Given the description of an element on the screen output the (x, y) to click on. 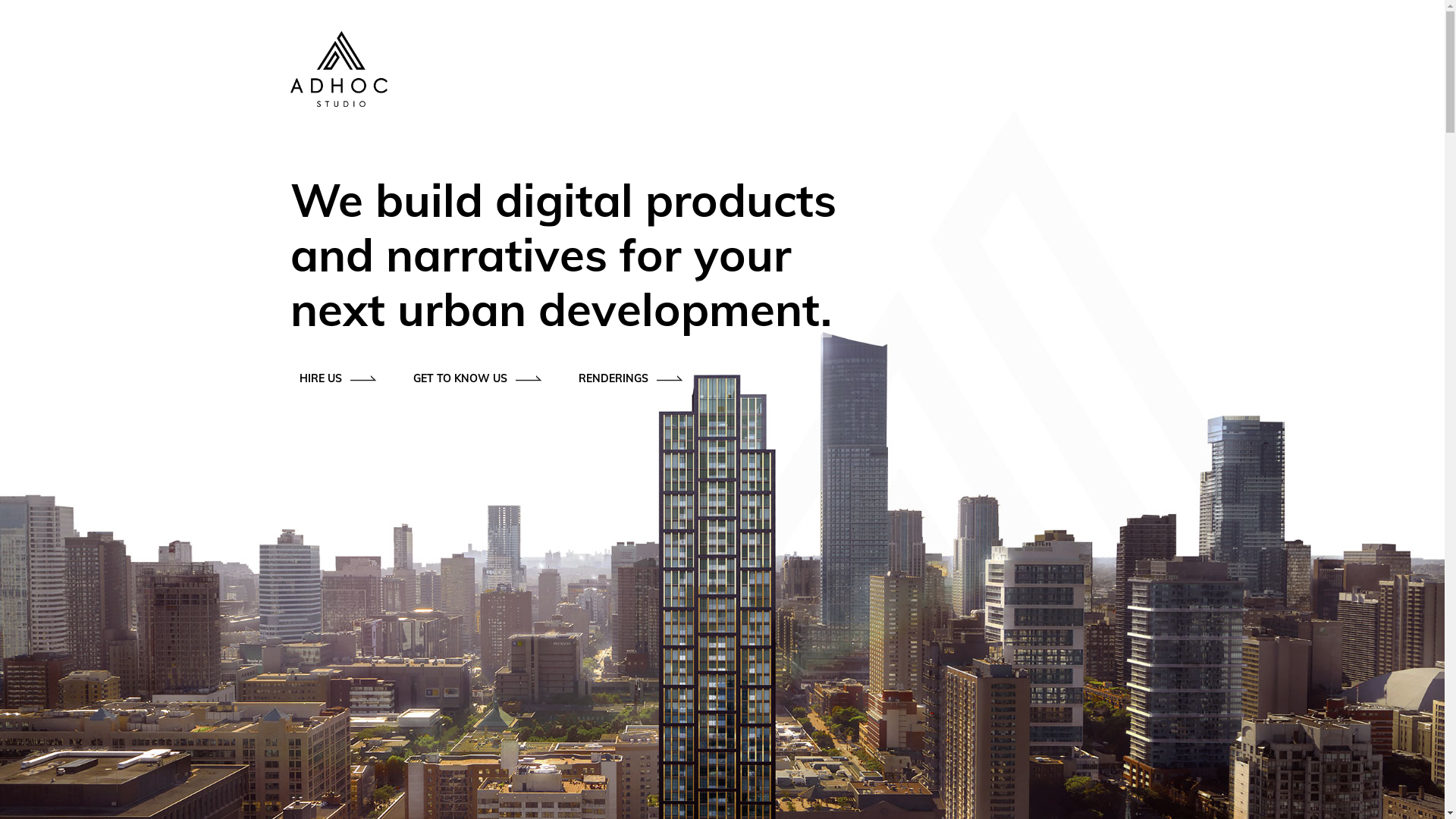
HIRE US Element type: text (337, 378)
GET TO KNOW US Element type: text (476, 378)
RENDERINGS Element type: text (629, 378)
